Given the description of an element on the screen output the (x, y) to click on. 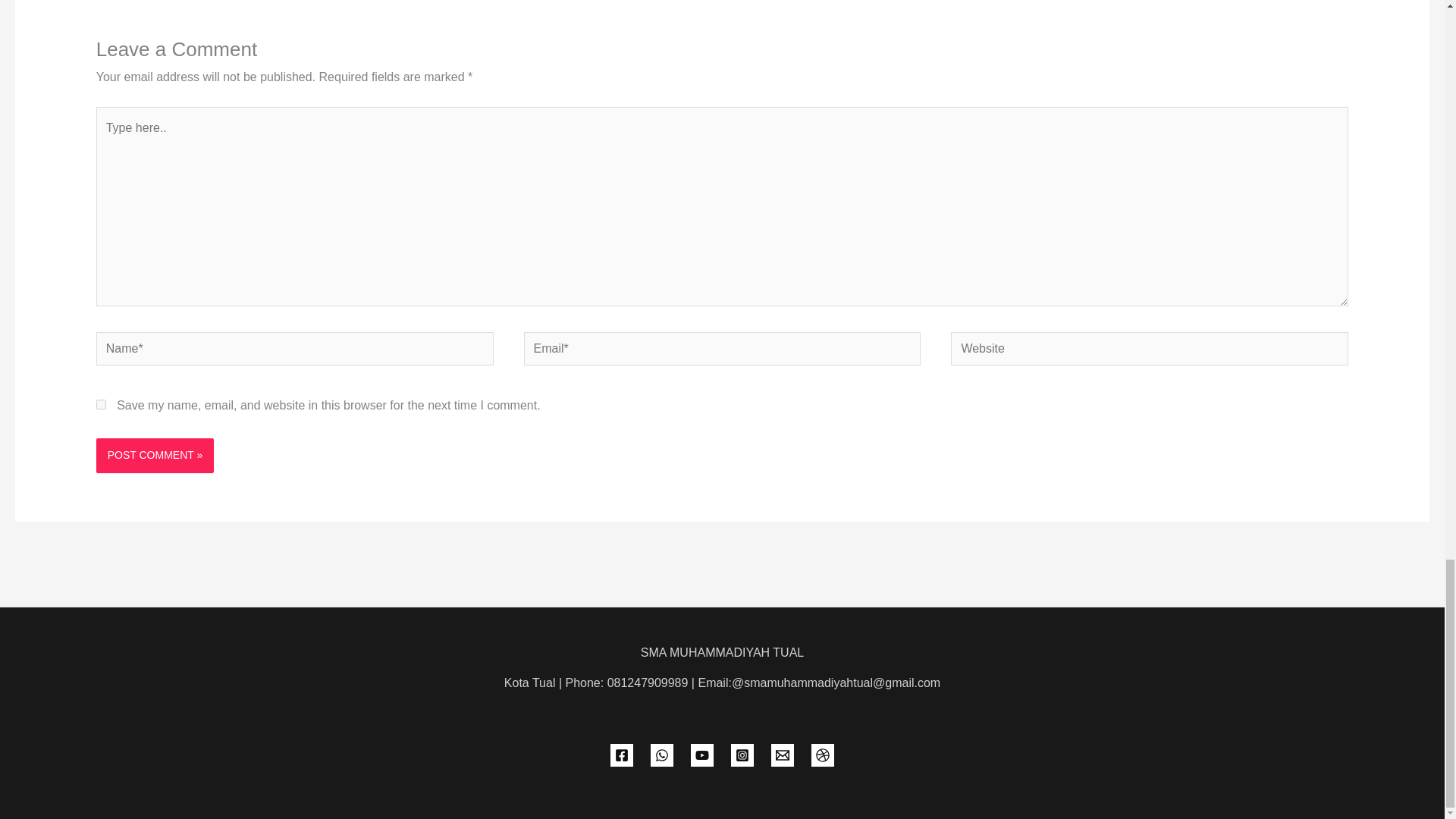
yes (101, 404)
